Given the description of an element on the screen output the (x, y) to click on. 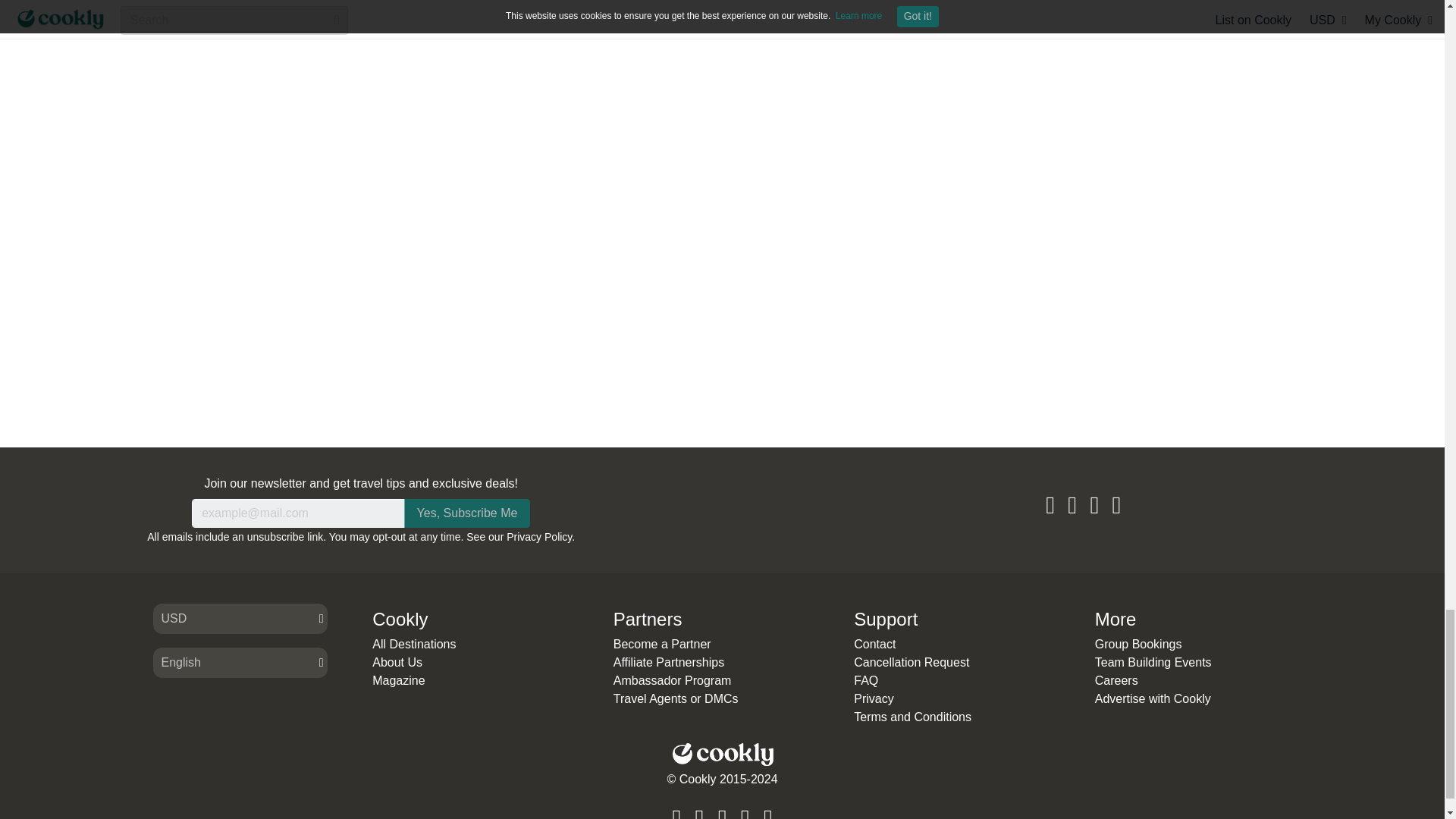
Yes, Subscribe Me (467, 512)
